Given the description of an element on the screen output the (x, y) to click on. 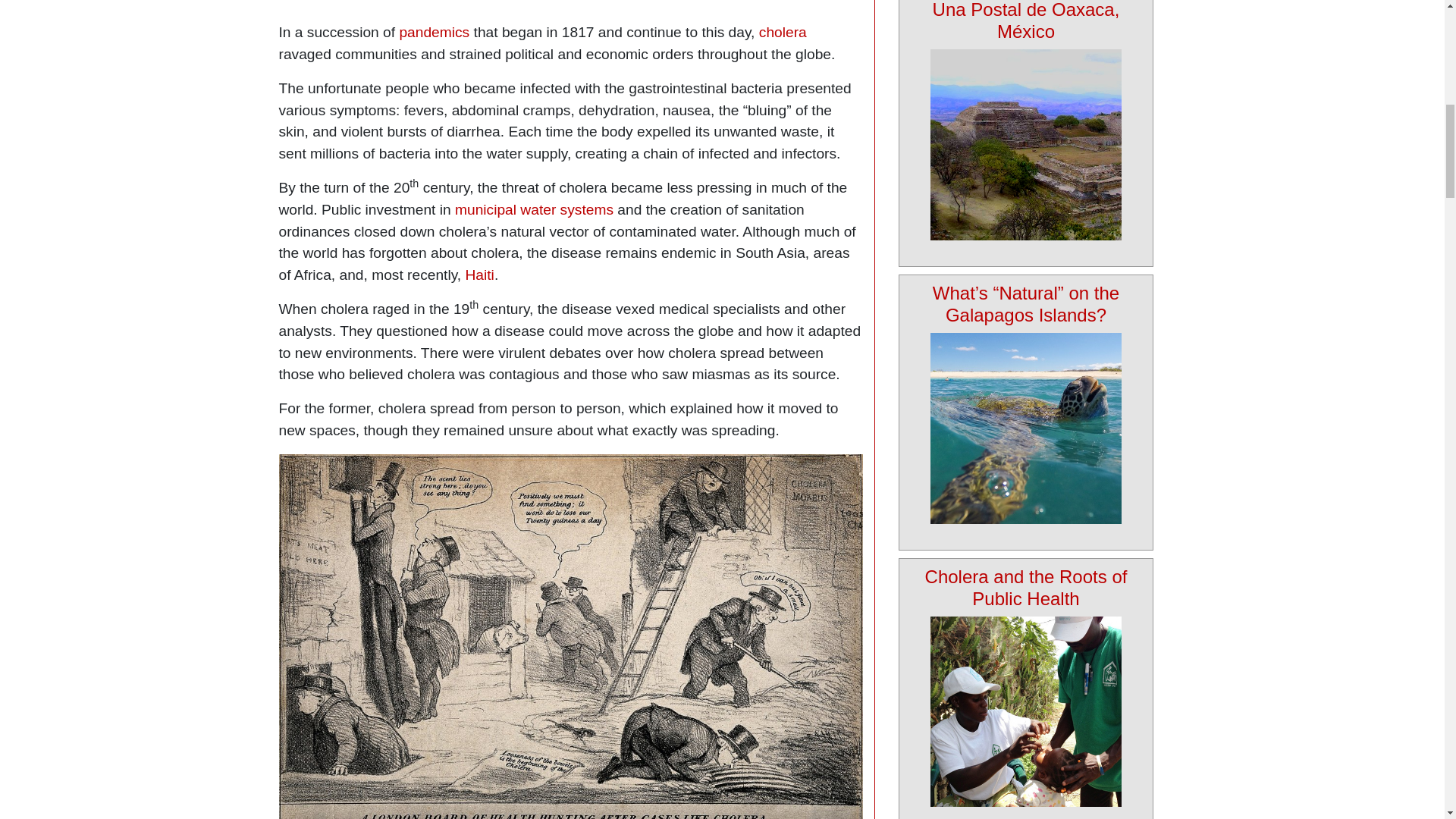
pandemics (433, 32)
Haiti (480, 274)
municipal water systems (533, 209)
cholera (782, 32)
